Given the description of an element on the screen output the (x, y) to click on. 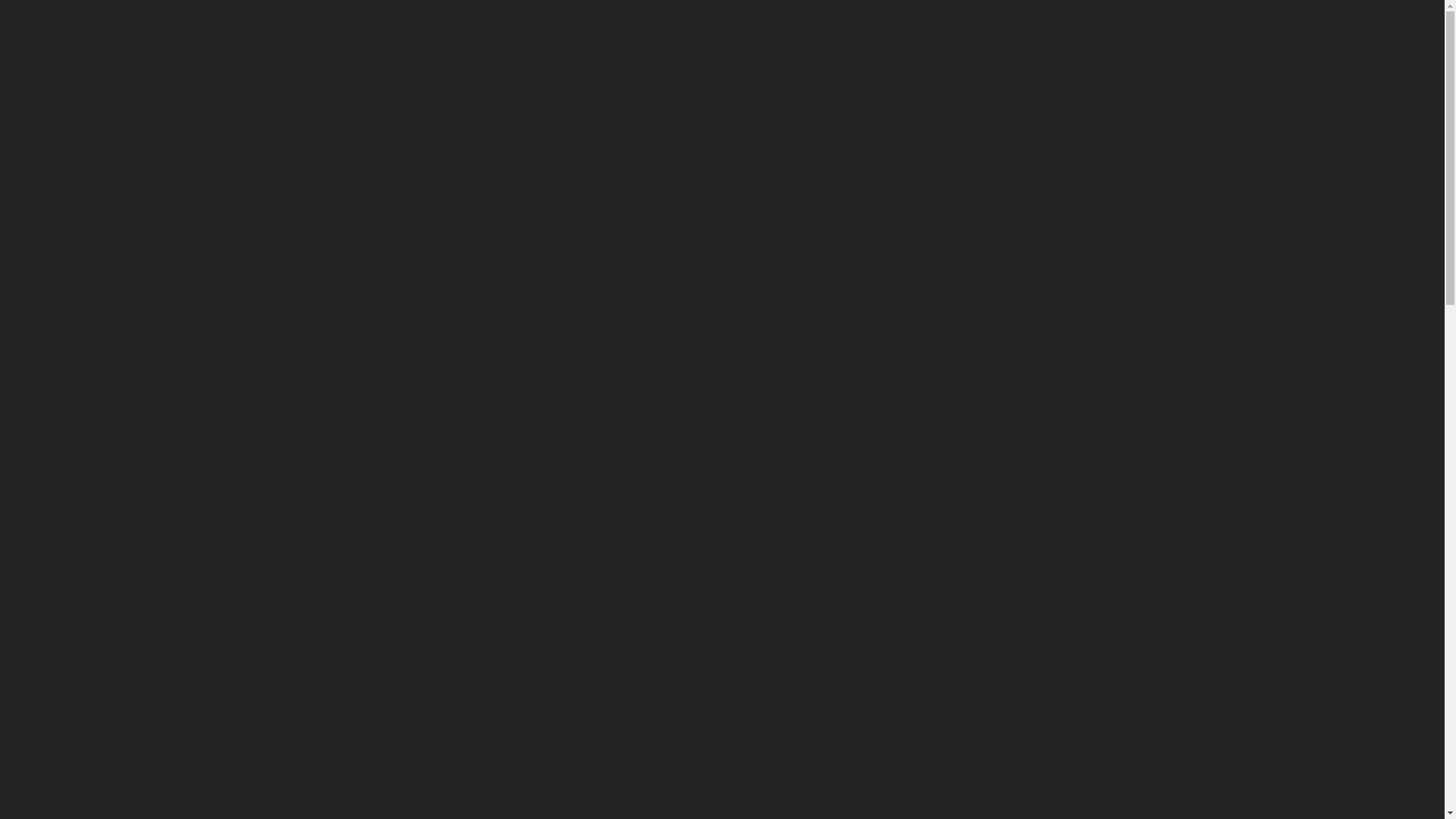
SERVICES Element type: text (495, 82)
ABOUT US Element type: text (411, 82)
0417 700 033 Element type: text (1086, 37)
  Element type: text (1415, 297)
CONTACT US Element type: text (721, 484)
  Element type: text (1415, 262)
RECENT PROJECTS Element type: text (601, 82)
Skip to content Element type: text (0, 0)
HOME Element type: text (335, 82)
CONTACT US Element type: text (718, 82)
